Given the description of an element on the screen output the (x, y) to click on. 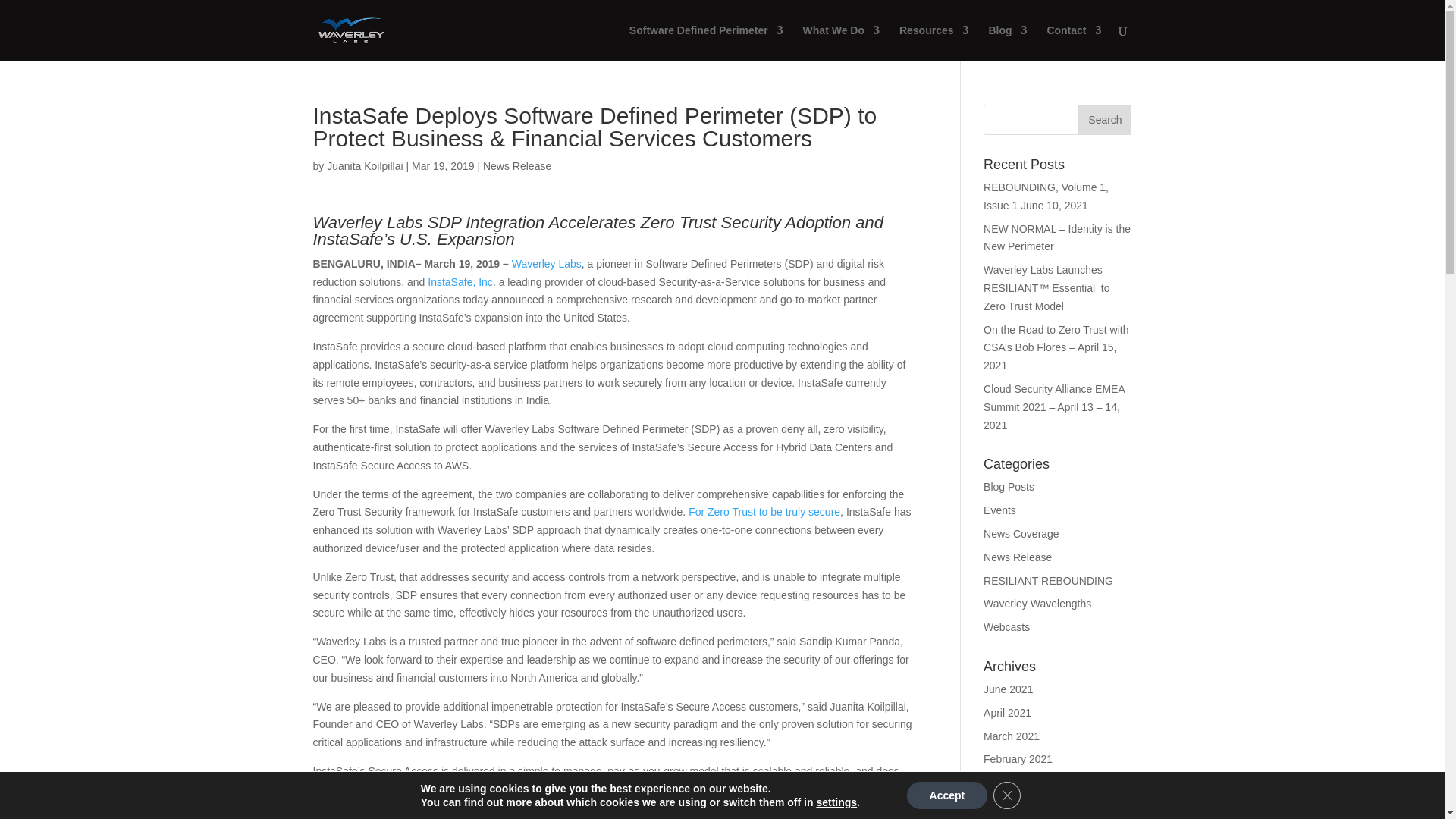
What We Do (841, 42)
Resources (934, 42)
Software Defined Perimeter (705, 42)
Posts by Juanita Koilpillai (364, 165)
Contact (1073, 42)
Blog (1007, 42)
Search (1104, 119)
